Given the description of an element on the screen output the (x, y) to click on. 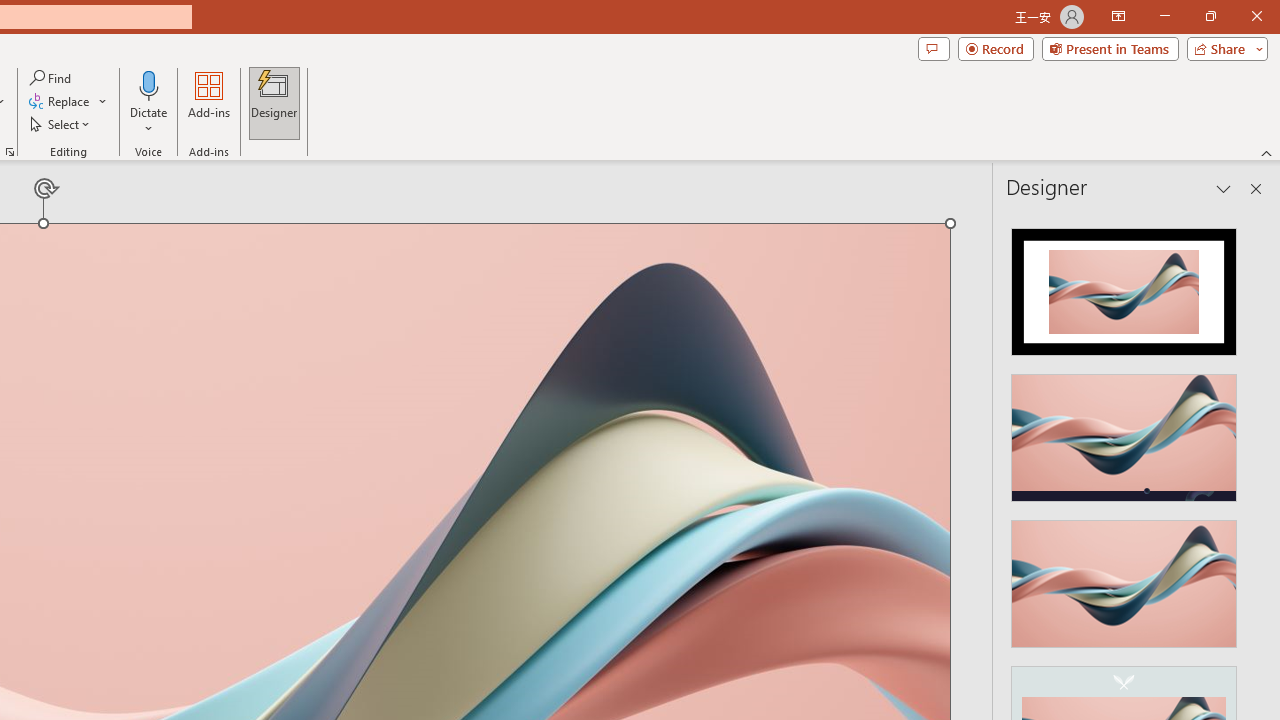
Recommended Design: Design Idea (1124, 286)
